Given the description of an element on the screen output the (x, y) to click on. 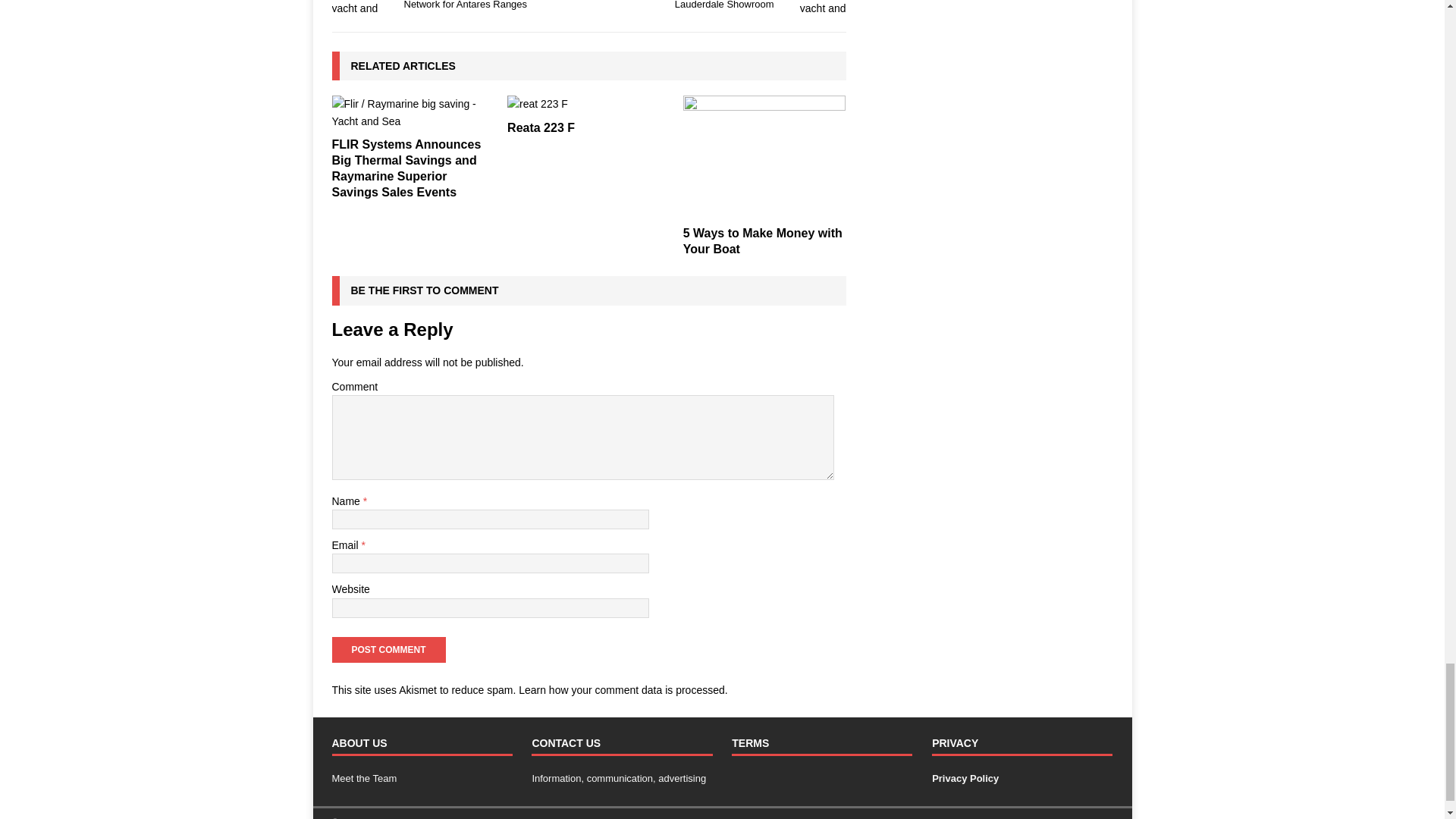
Post Comment (388, 649)
Reata 223 F (587, 103)
